Given the description of an element on the screen output the (x, y) to click on. 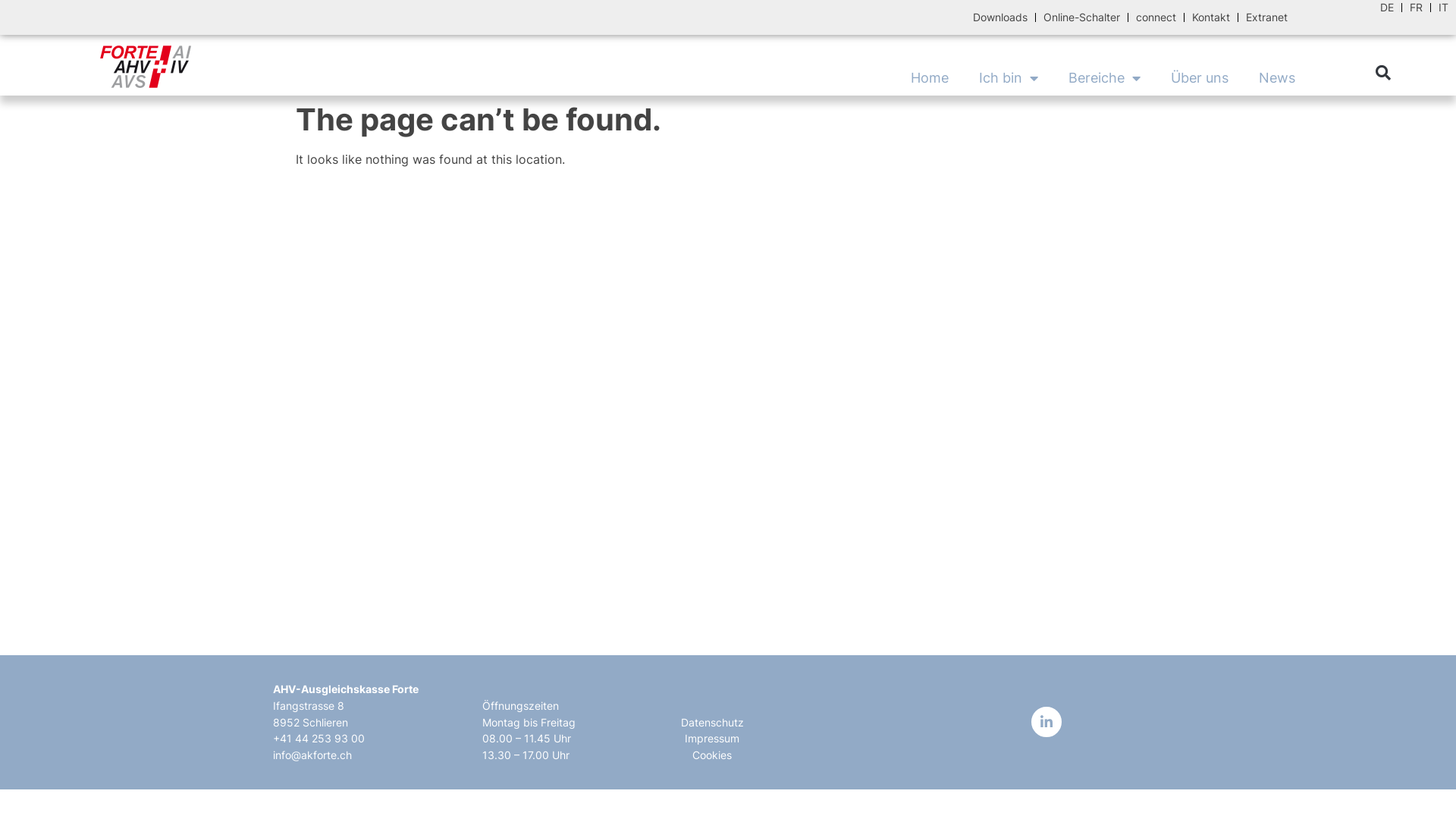
News Element type: text (1276, 77)
+41 44 253 93 00 Element type: text (318, 737)
Datenschutz Element type: text (711, 721)
Ich bin Element type: text (1008, 77)
Extranet Element type: text (1266, 17)
Impressum Element type: text (711, 737)
Home Element type: text (929, 77)
Kontakt Element type: text (1210, 17)
FR Element type: text (1416, 7)
connect Element type: text (1155, 17)
Downloads Element type: text (1000, 17)
DE Element type: text (1386, 7)
Online-Schalter Element type: text (1081, 17)
Cookies Element type: text (711, 754)
cropped-logo-header-akforte.png Element type: hover (145, 66)
info@akforte.ch Element type: text (312, 754)
Ifangstrasse 8
8952 Schlieren Element type: text (310, 713)
Bereiche Element type: text (1104, 77)
